Given the description of an element on the screen output the (x, y) to click on. 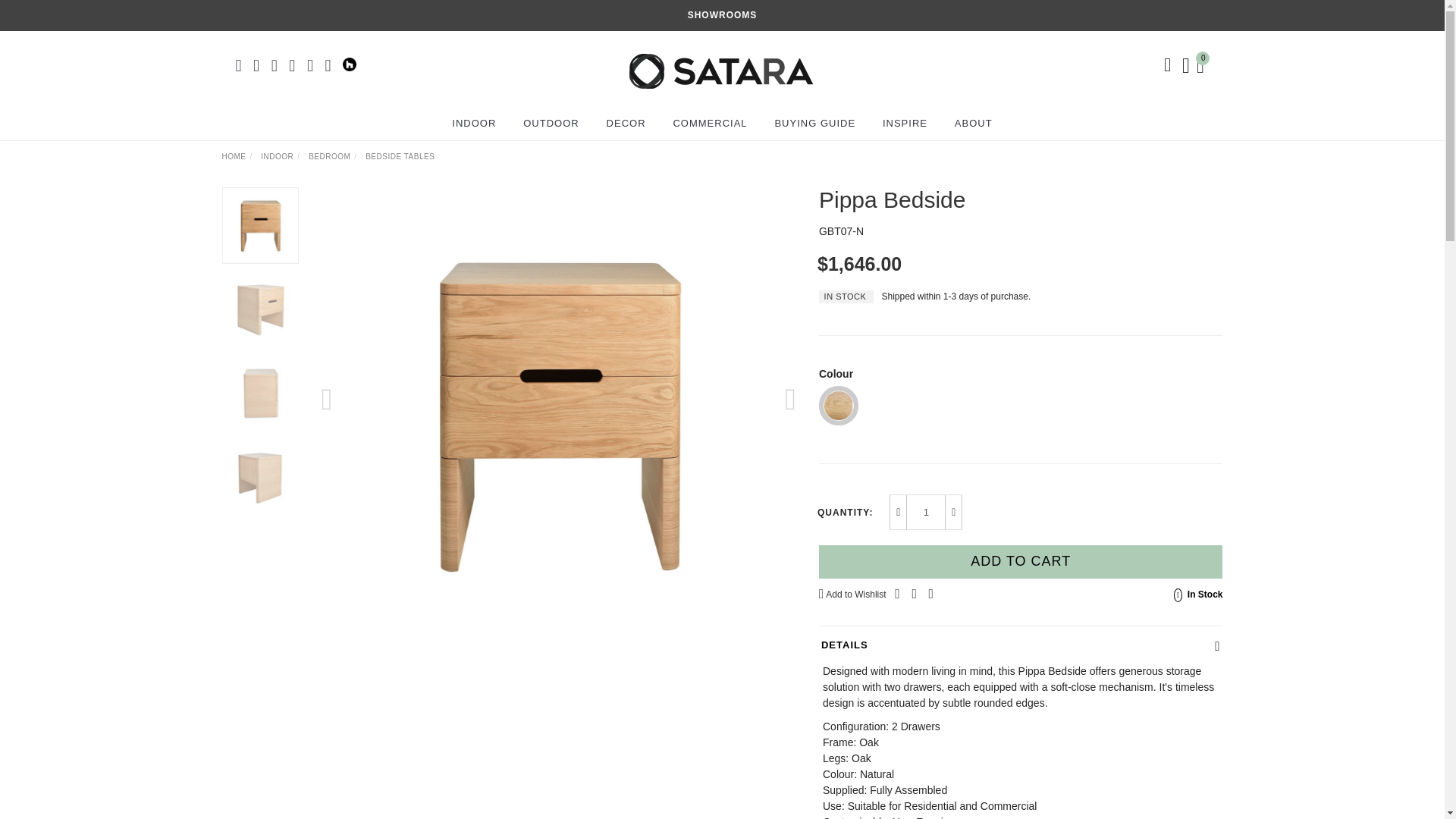
Opens a widget where you can chat to one of our agents (1386, 792)
SHOWROOMS (722, 14)
Large View (260, 477)
Satara Australia Pty Ltd (720, 64)
INDOOR (473, 123)
Large View (260, 309)
Large View (260, 393)
0 (1202, 64)
Add Pippa Bedside to Cart (1020, 561)
1 (926, 512)
